Given the description of an element on the screen output the (x, y) to click on. 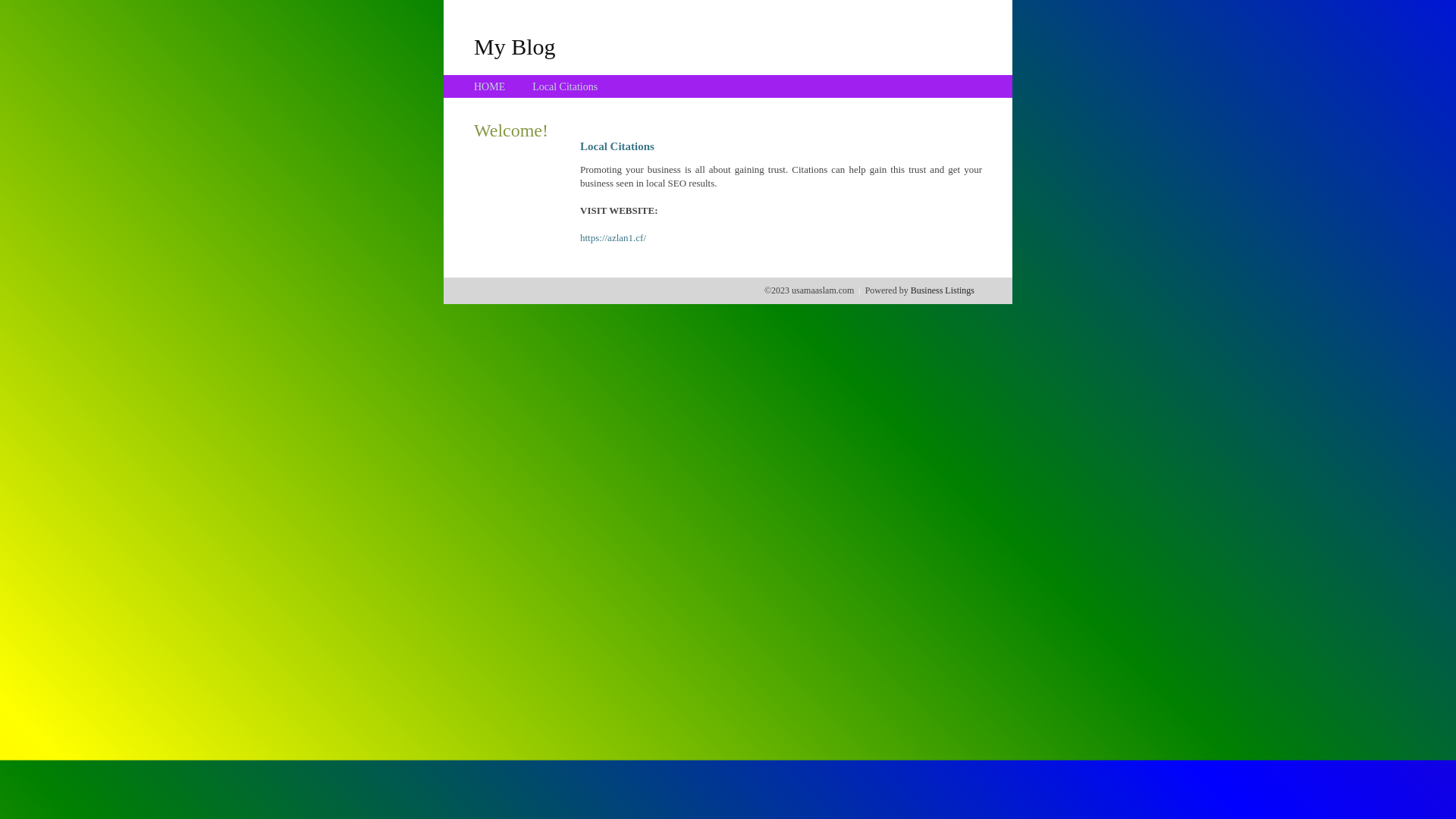
My Blog Element type: text (514, 46)
HOME Element type: text (489, 86)
Local Citations Element type: text (564, 86)
https://azlan1.cf/ Element type: text (613, 237)
Business Listings Element type: text (942, 290)
